Given the description of an element on the screen output the (x, y) to click on. 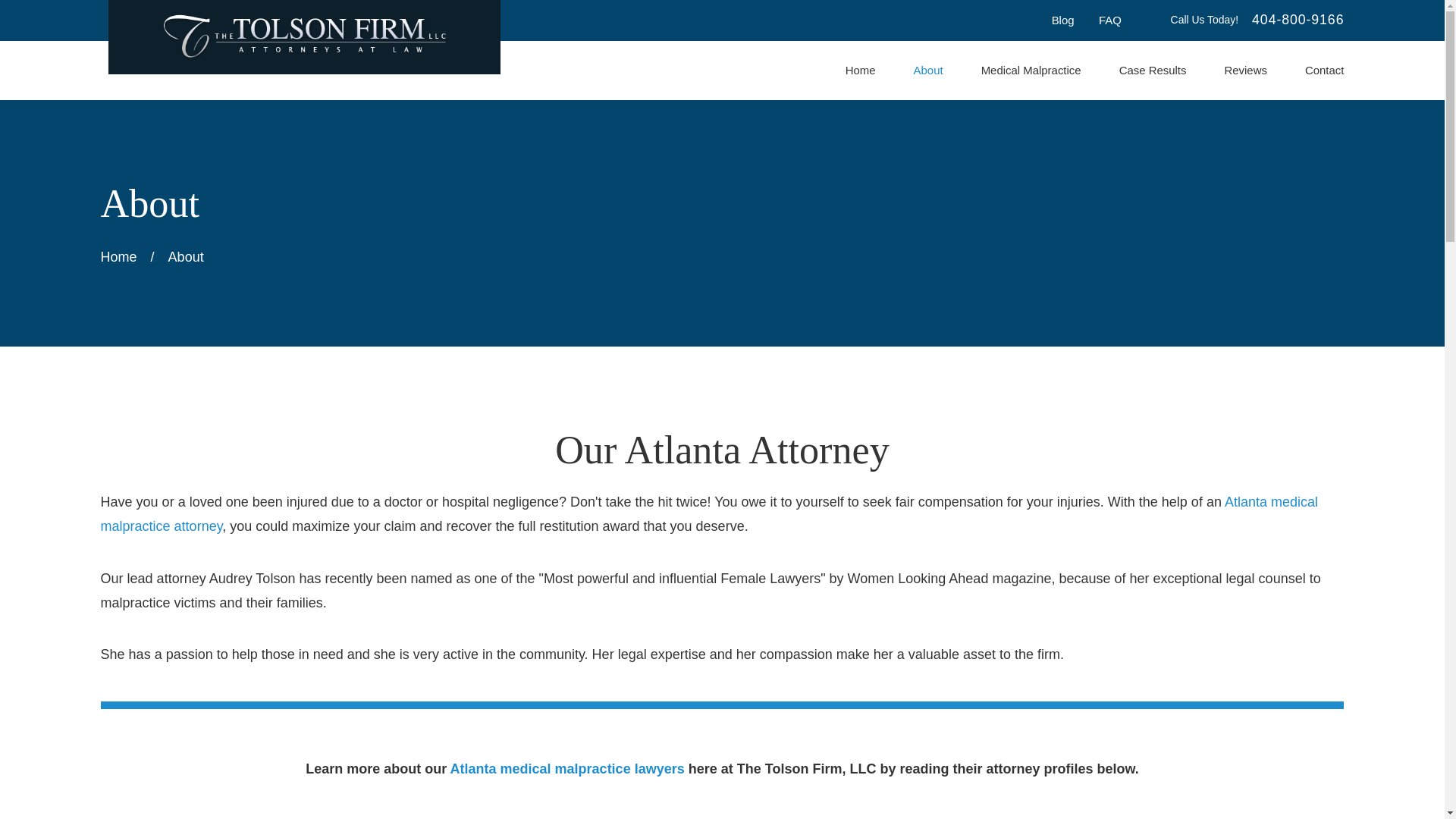
Home (303, 36)
FAQ (1110, 19)
404-800-9166 (1297, 20)
Blog (1062, 19)
About (928, 70)
Go Home (118, 256)
Medical Malpractice (1031, 70)
Home (860, 70)
